Given the description of an element on the screen output the (x, y) to click on. 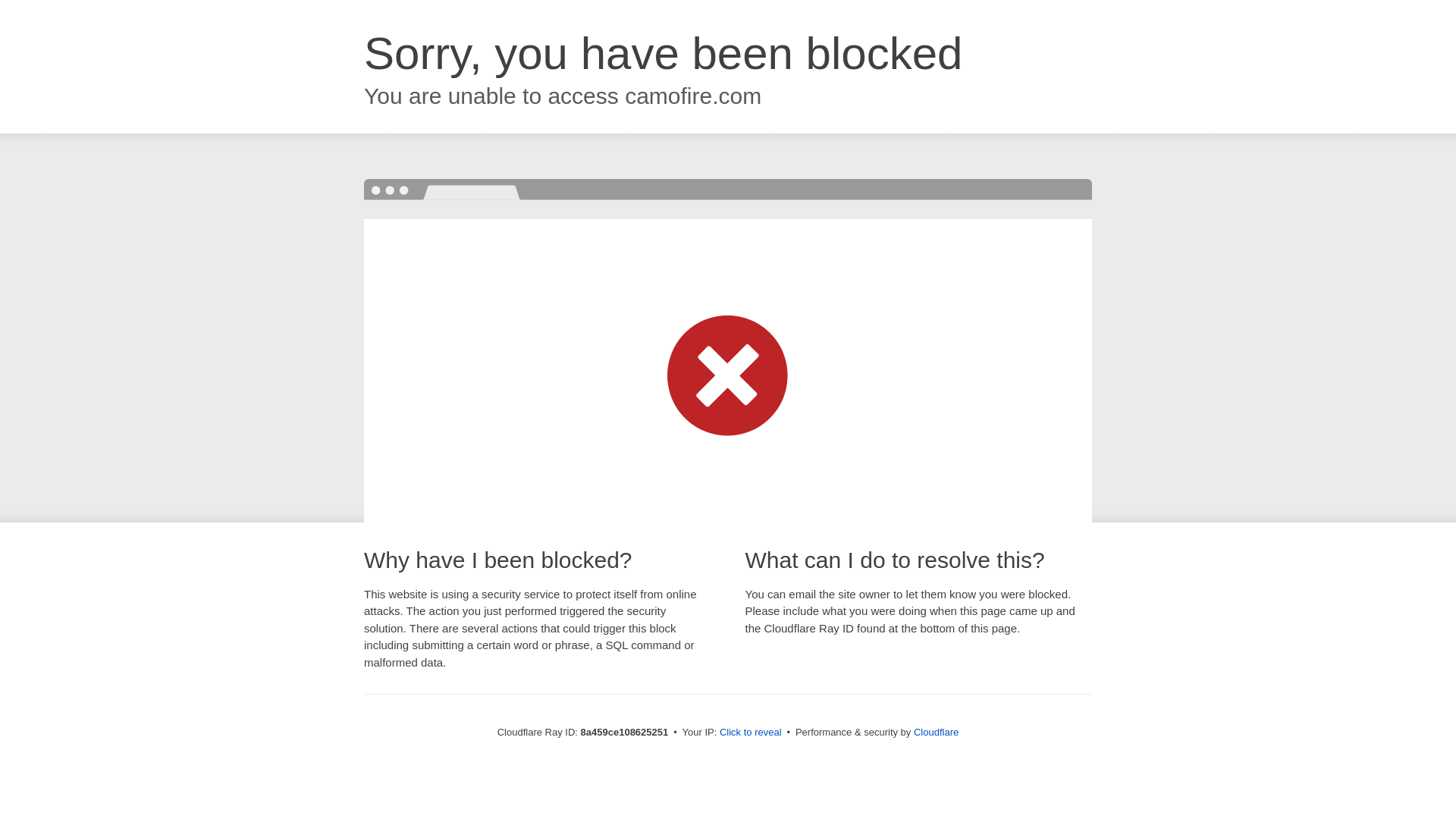
Cloudflare (936, 731)
Click to reveal (750, 732)
